Given the description of an element on the screen output the (x, y) to click on. 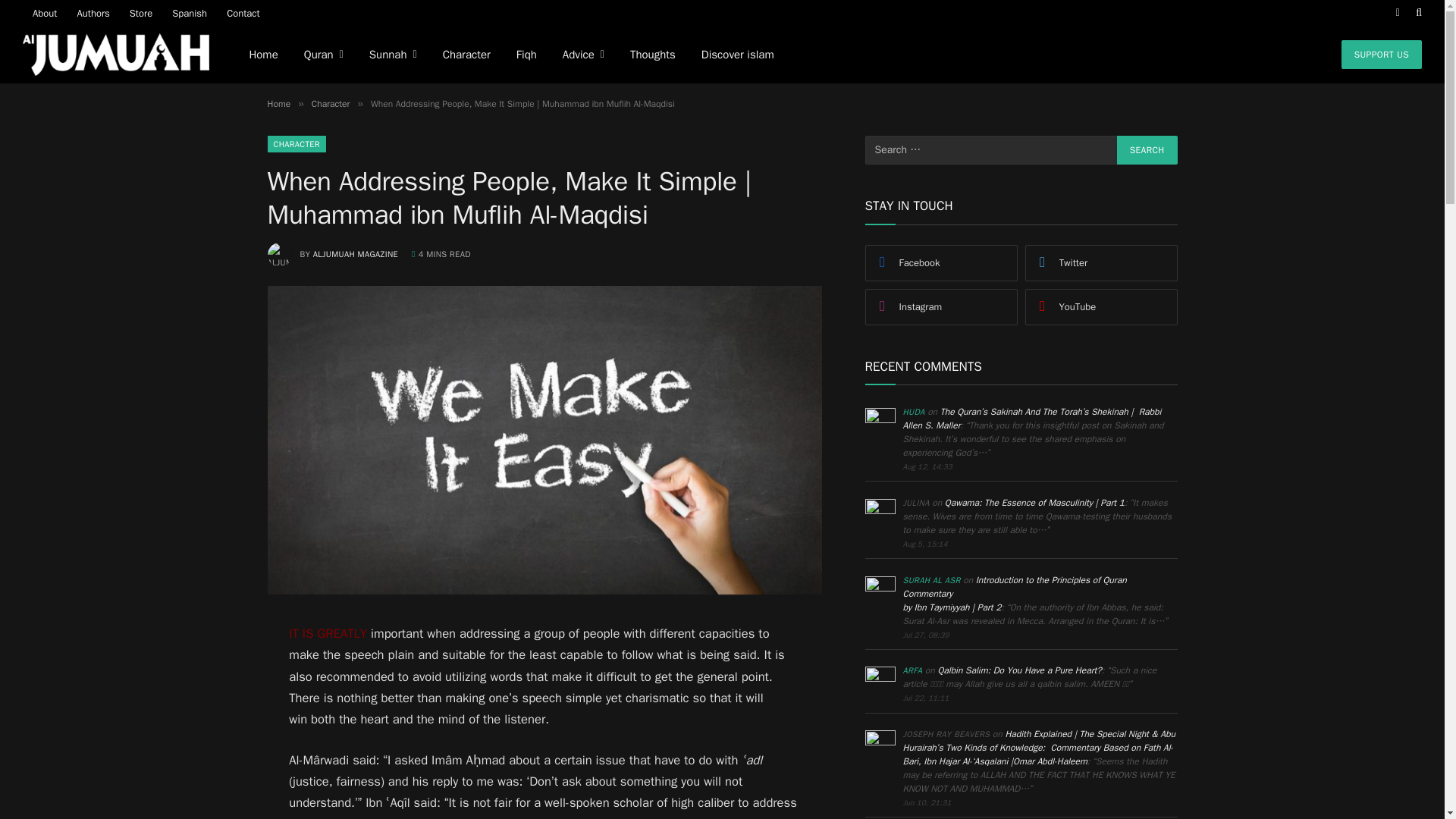
Store (140, 12)
Search (1146, 149)
Home (277, 103)
CHARACTER (295, 143)
Home (262, 54)
About (44, 12)
ALJUMUAH MAGAZINE (355, 253)
Quran (323, 54)
Posts by AlJumuah Magazine (355, 253)
Character (330, 103)
